Given the description of an element on the screen output the (x, y) to click on. 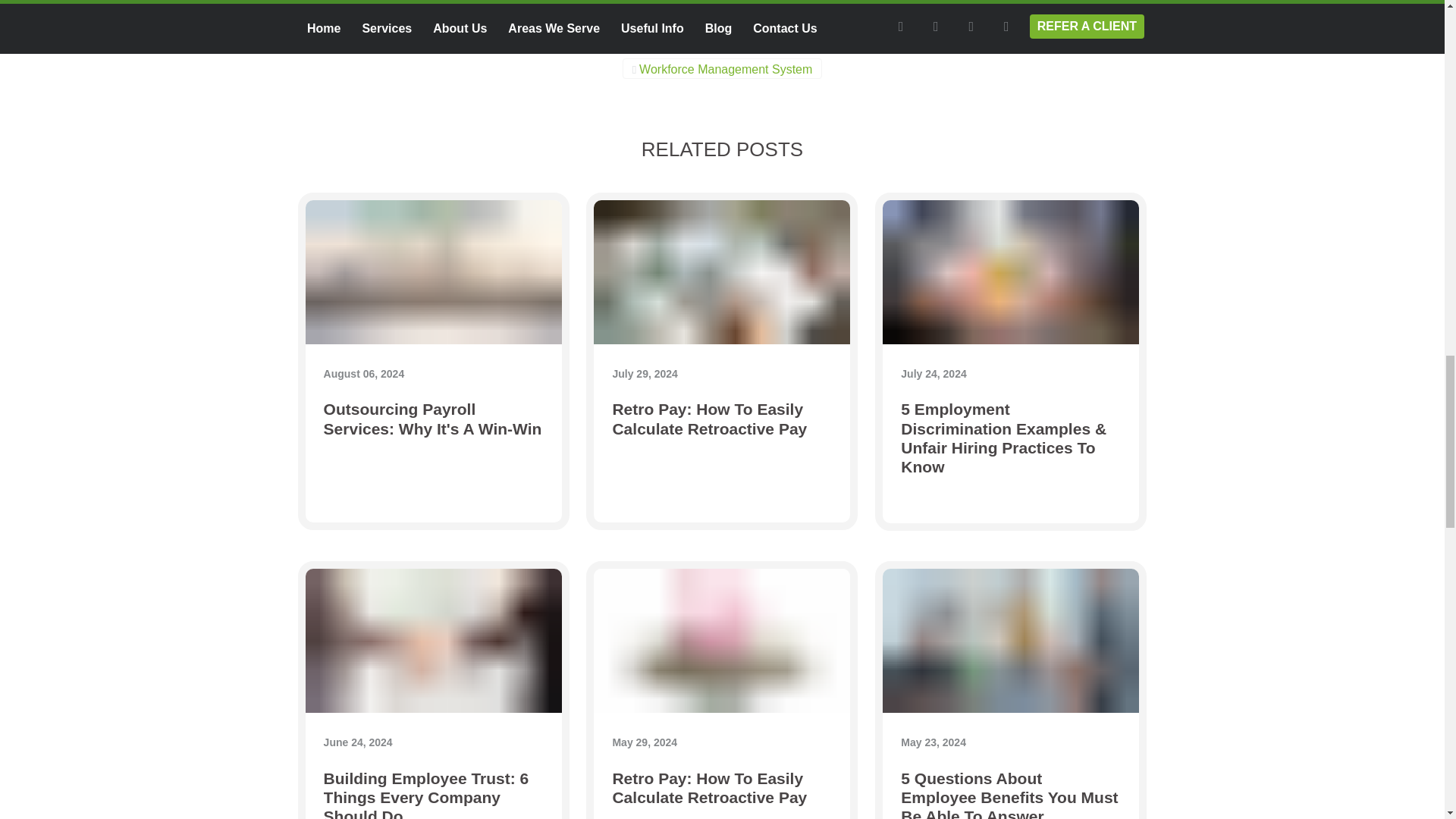
Blog (482, 38)
Benefits (408, 38)
Human Capital Management (699, 38)
All (340, 38)
Business (557, 38)
